Given the description of an element on the screen output the (x, y) to click on. 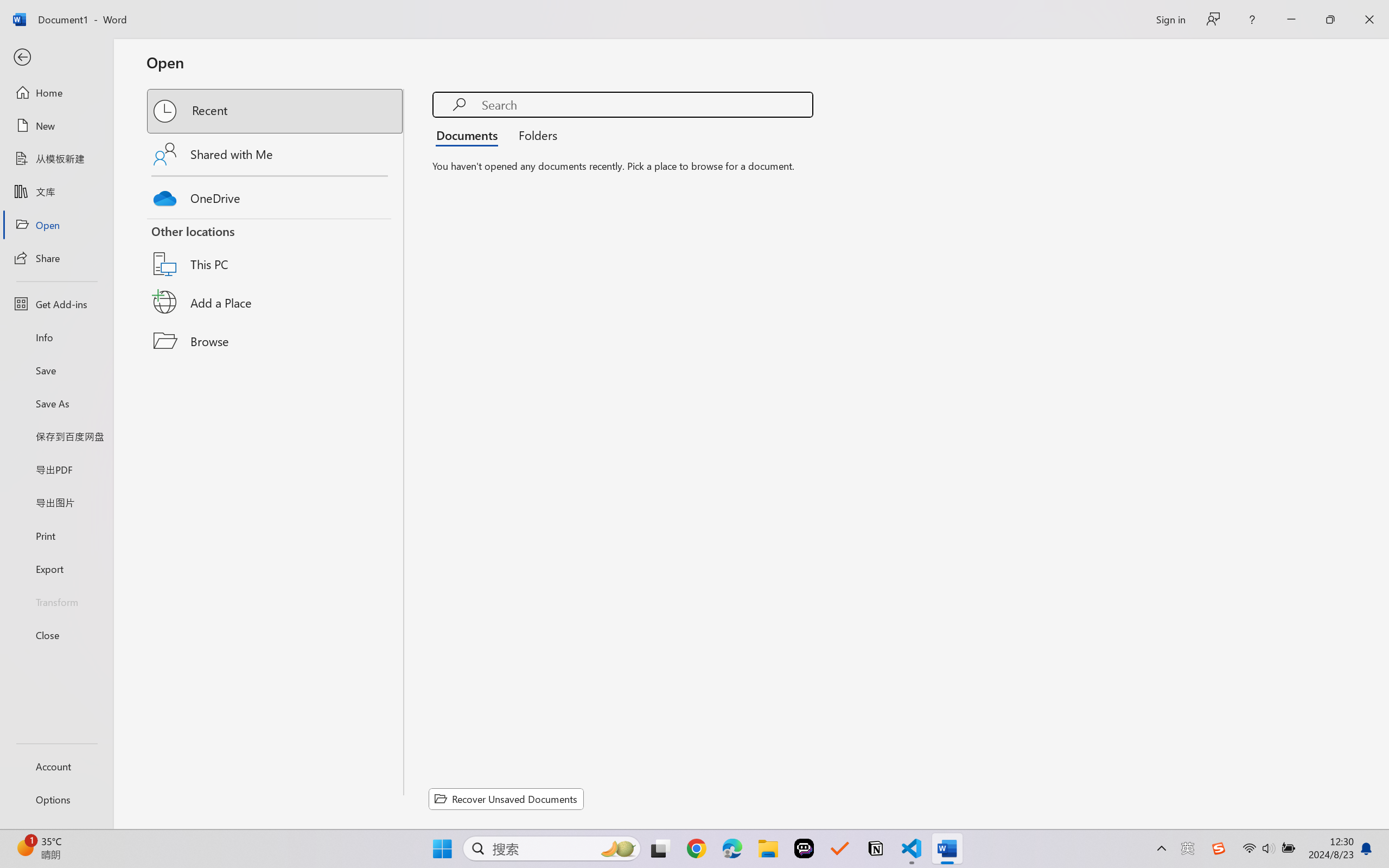
Account (56, 765)
Add a Place (275, 302)
Save As (56, 403)
Transform (56, 601)
Back (56, 57)
Get Add-ins (56, 303)
Print (56, 535)
